Given the description of an element on the screen output the (x, y) to click on. 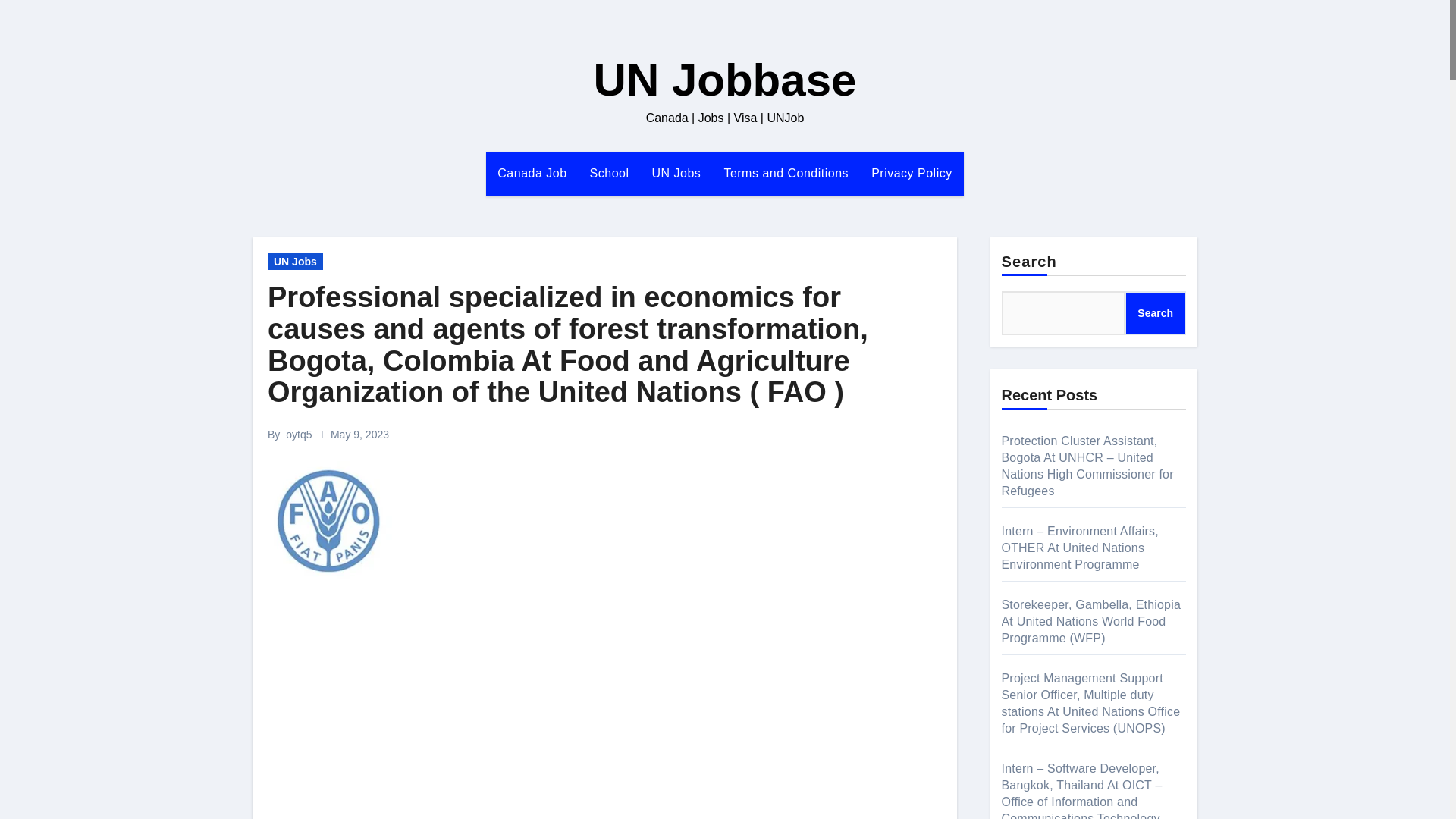
Canada Job (532, 173)
UN Jobs (295, 261)
UN Jobs (676, 173)
UN Jobs (676, 173)
Privacy Policy (911, 173)
Terms and Conditions (785, 173)
School (609, 173)
Canada Job (532, 173)
Privacy Policy (911, 173)
School (609, 173)
